Given the description of an element on the screen output the (x, y) to click on. 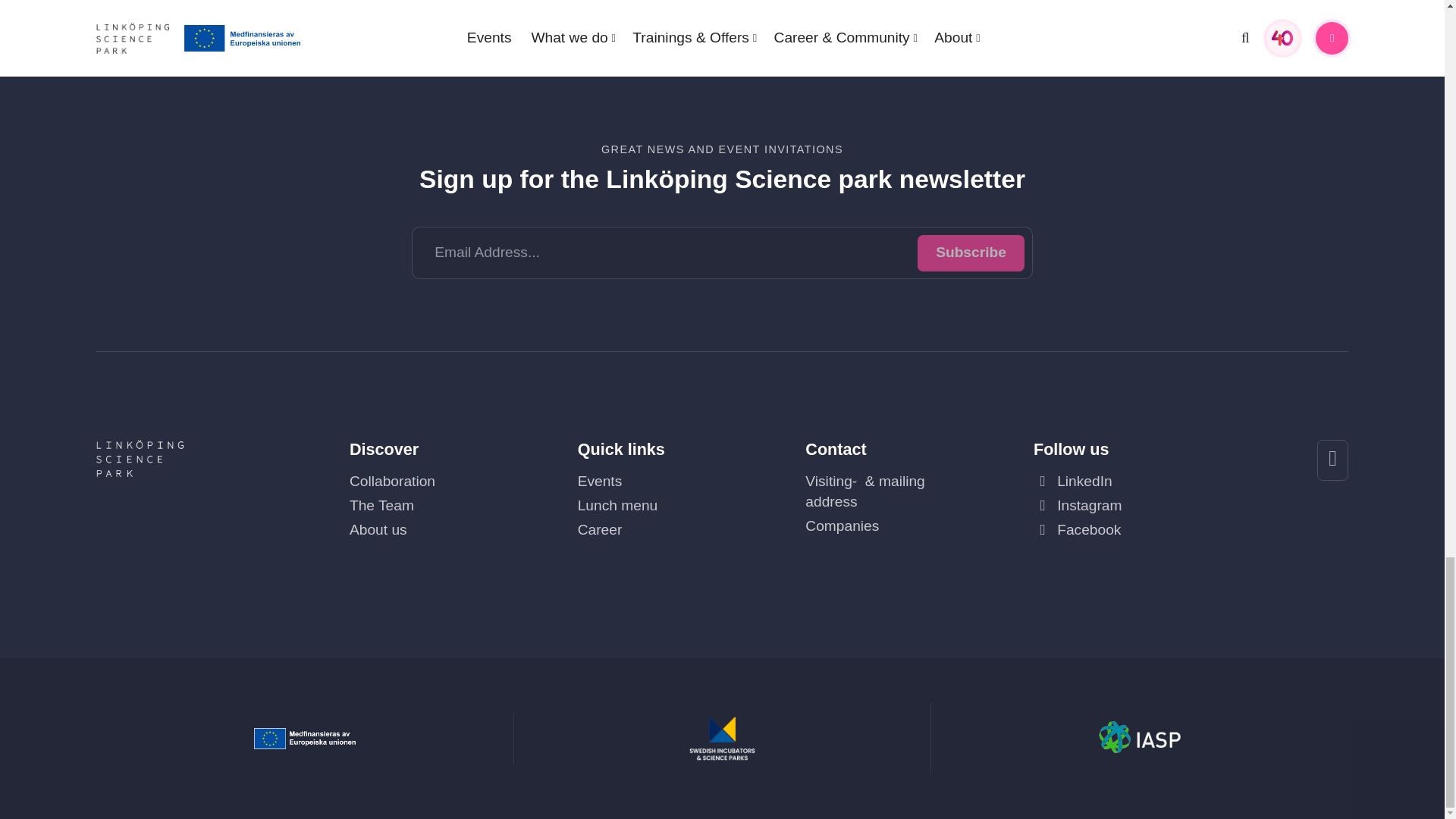
Subscribe (971, 253)
